Given the description of an element on the screen output the (x, y) to click on. 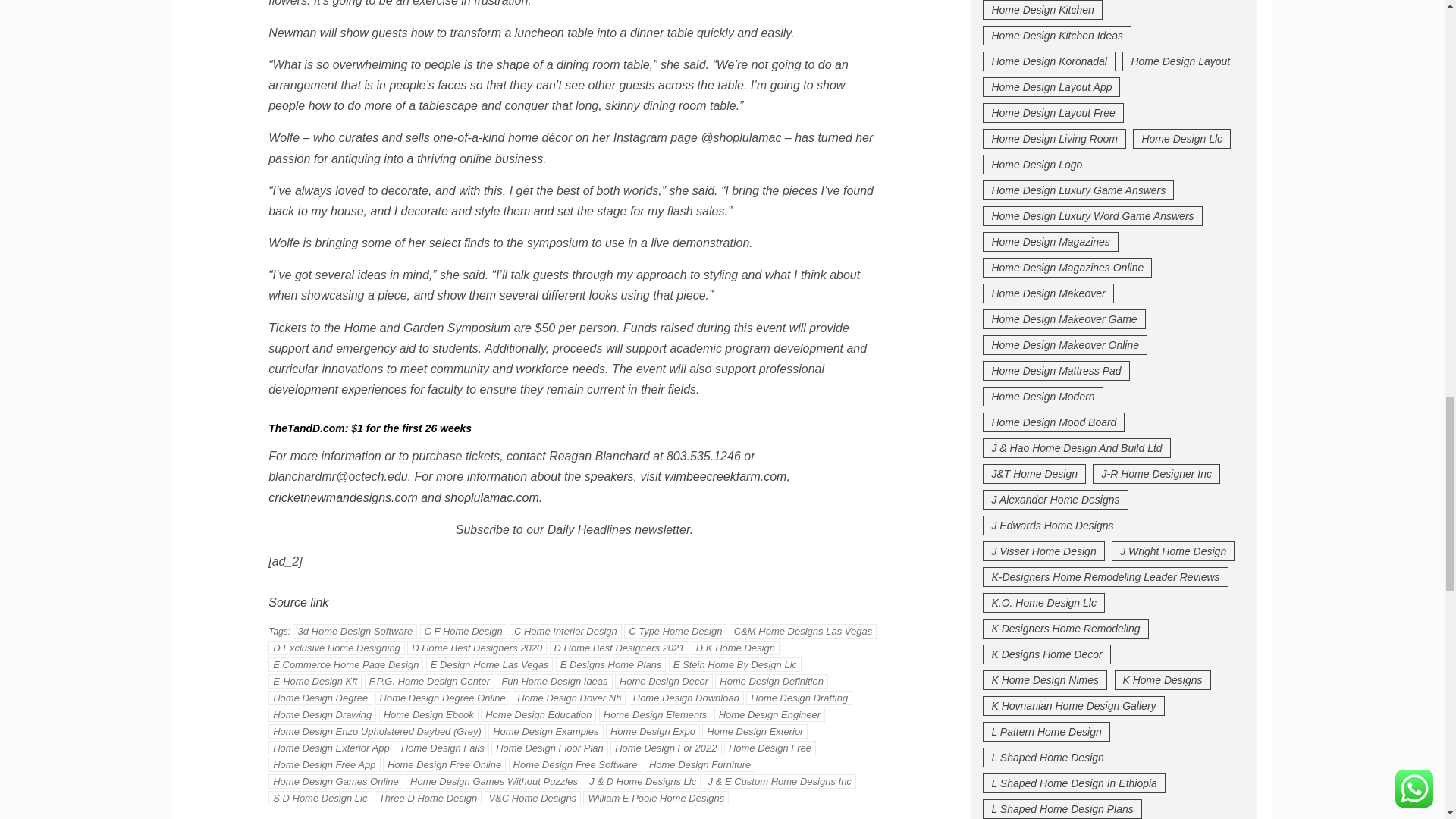
cricketnewmandesigns.com (342, 497)
wimbeecreekfarm.com (724, 476)
